Given the description of an element on the screen output the (x, y) to click on. 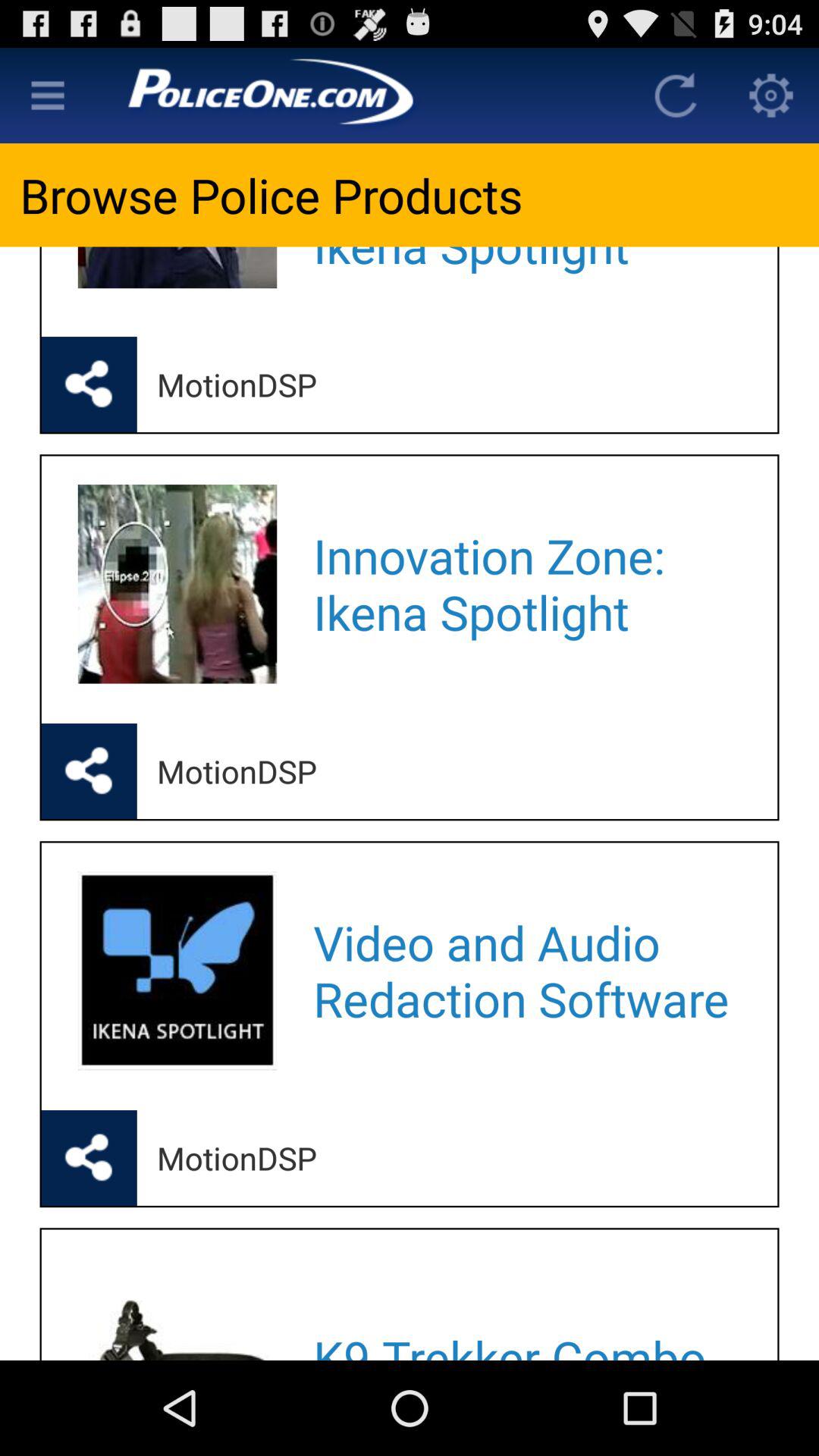
open the app below browse police products item (525, 271)
